Given the description of an element on the screen output the (x, y) to click on. 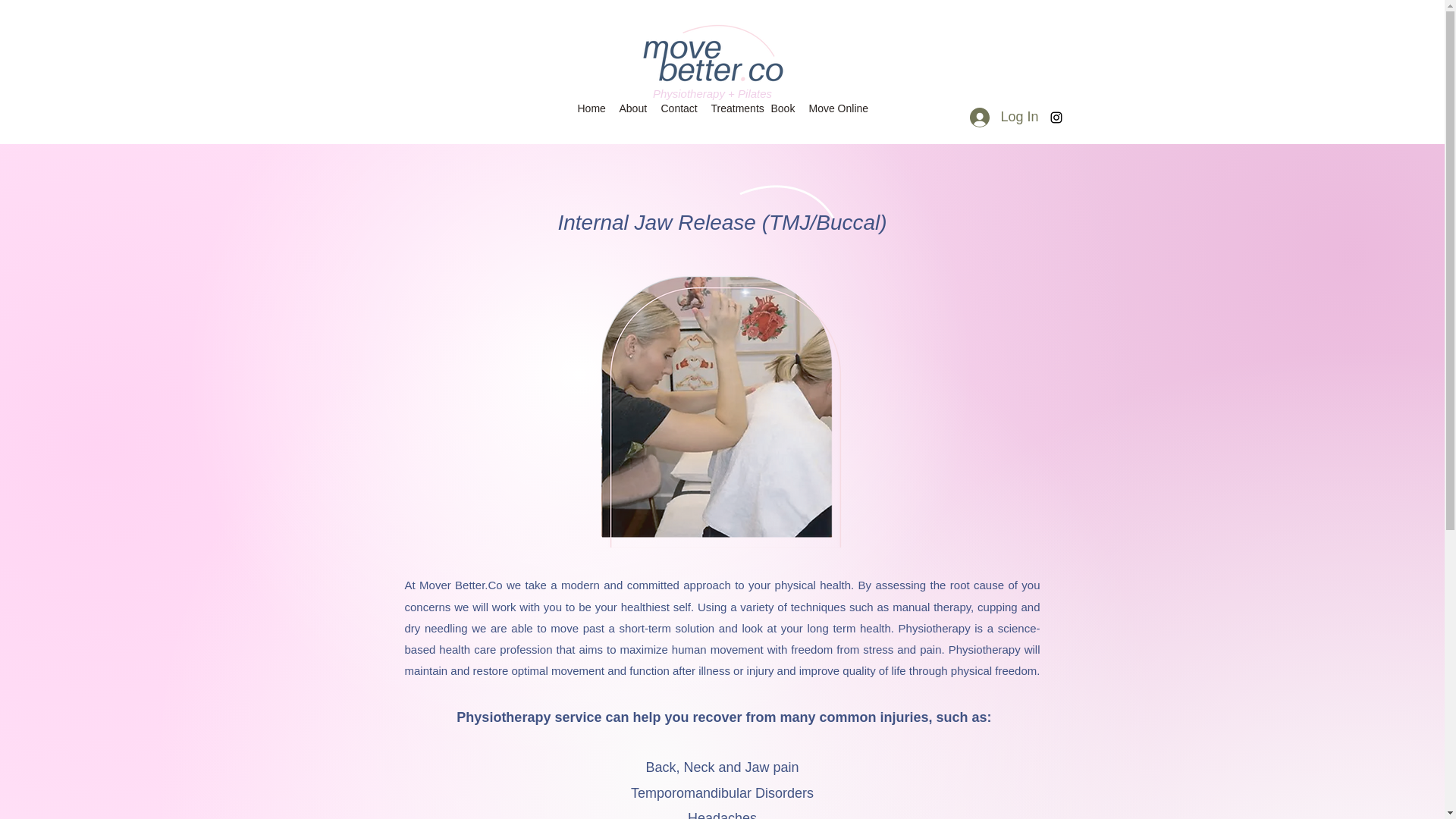
Move Online (837, 108)
About (631, 108)
Home (590, 108)
Book (781, 108)
Contact (677, 108)
Treatments (732, 108)
Log In (1003, 117)
